Given the description of an element on the screen output the (x, y) to click on. 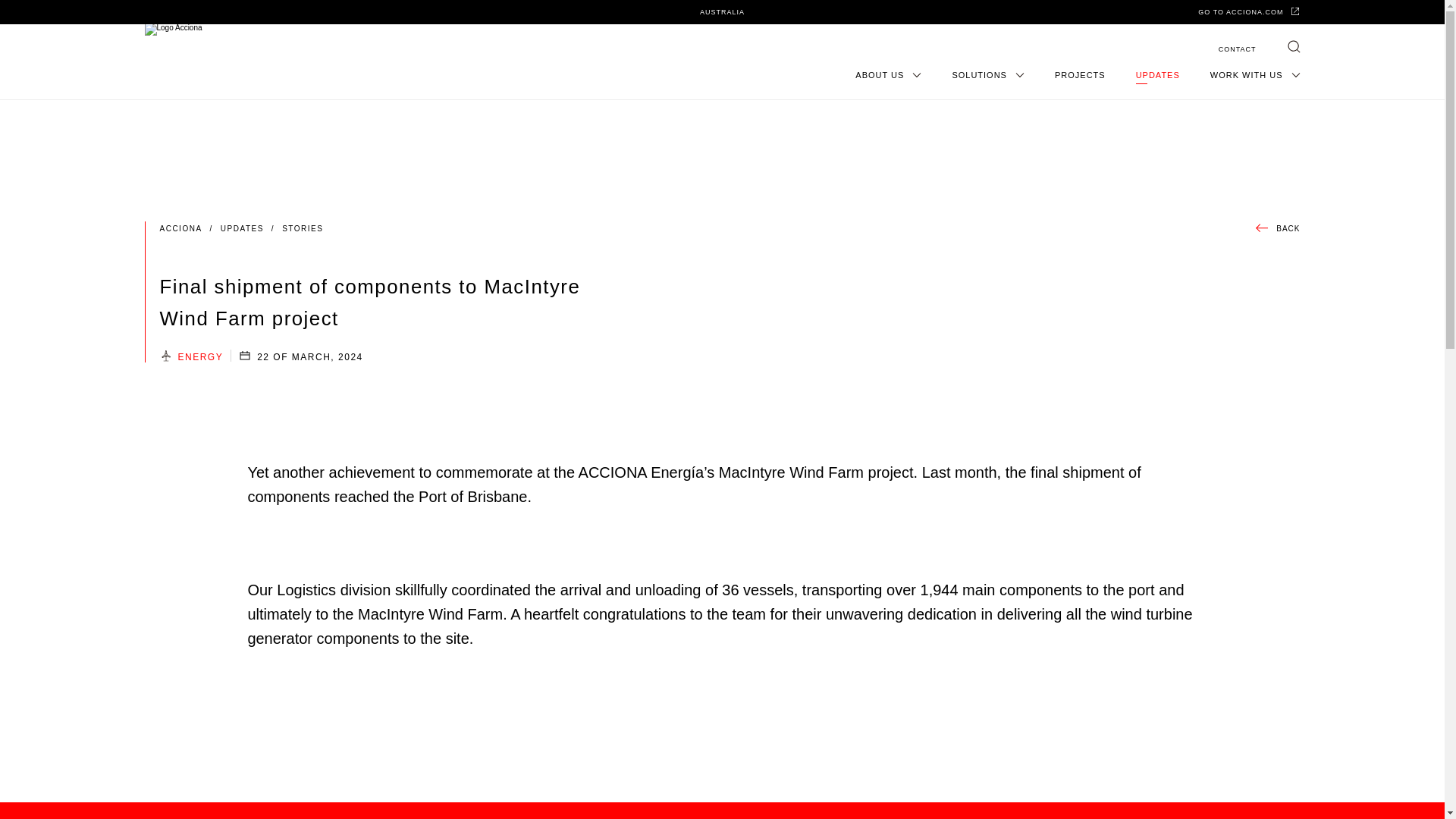
ABOUT US (888, 74)
Energy (199, 357)
SOLUTIONS (988, 74)
WORK WITH US (1254, 74)
CONTACT (1237, 49)
GO TO ACCIONA.COM (1249, 11)
PROJECTS (1079, 74)
UPDATES (1157, 74)
